Given the description of an element on the screen output the (x, y) to click on. 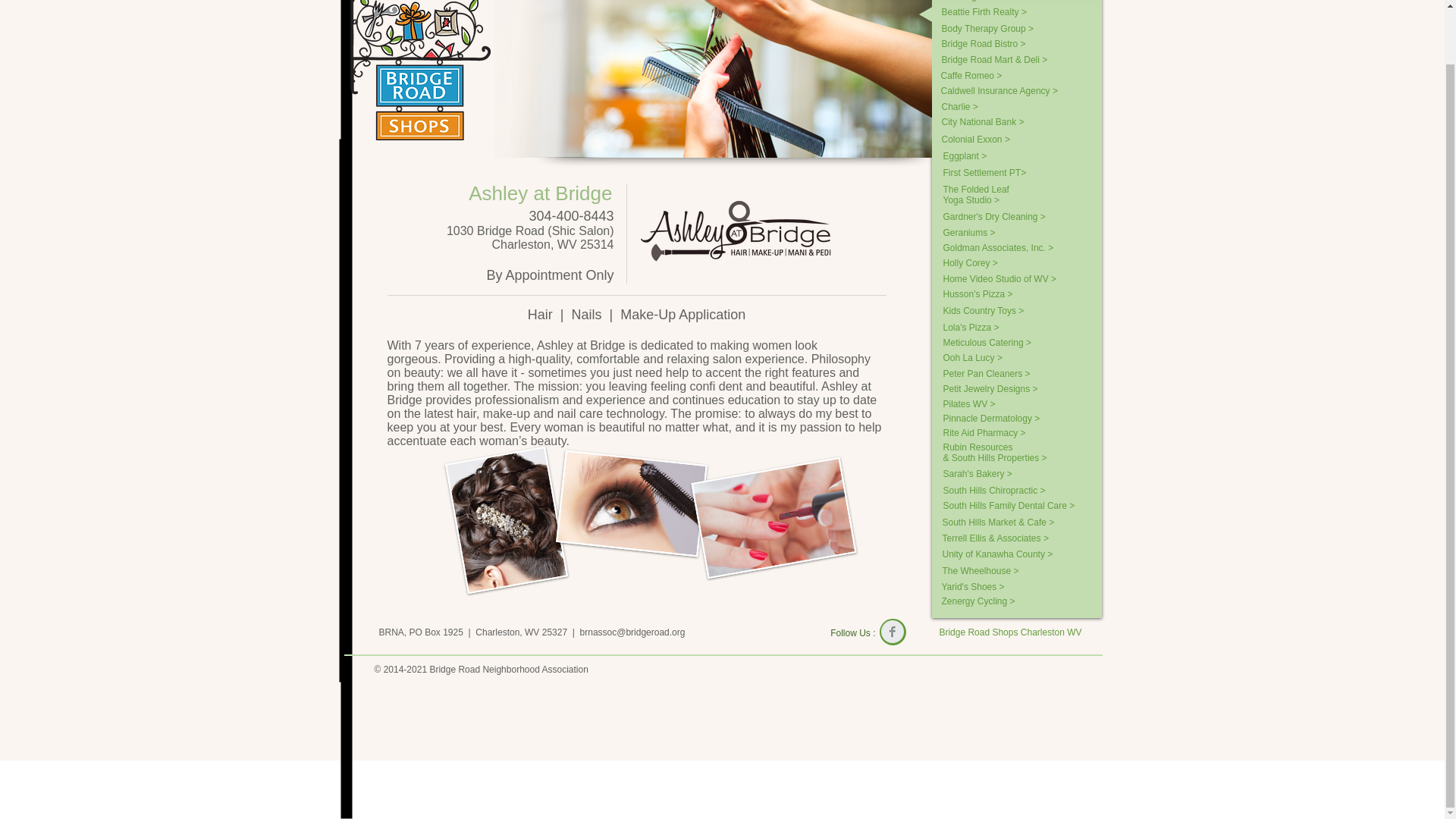
Rubin Resources (1008, 447)
The Folded Leaf (981, 189)
Ashley at Bridge (539, 192)
